Given the description of an element on the screen output the (x, y) to click on. 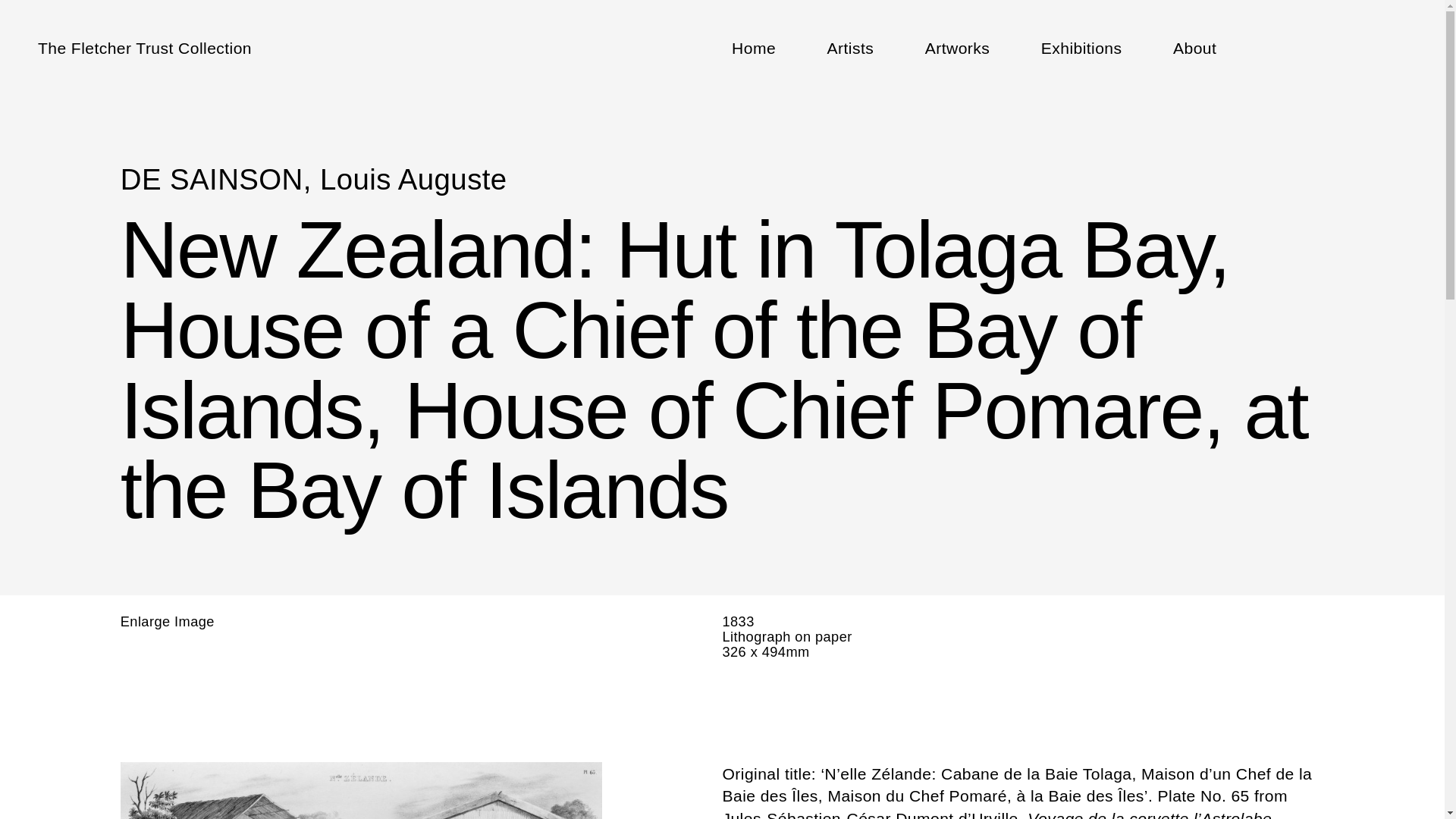
The Fletcher Trust Collection (144, 47)
Exhibitions (1081, 47)
About (1194, 47)
Artists (851, 47)
Artworks (957, 47)
Home (754, 47)
DE SAINSON, Louis Auguste (313, 178)
